Given the description of an element on the screen output the (x, y) to click on. 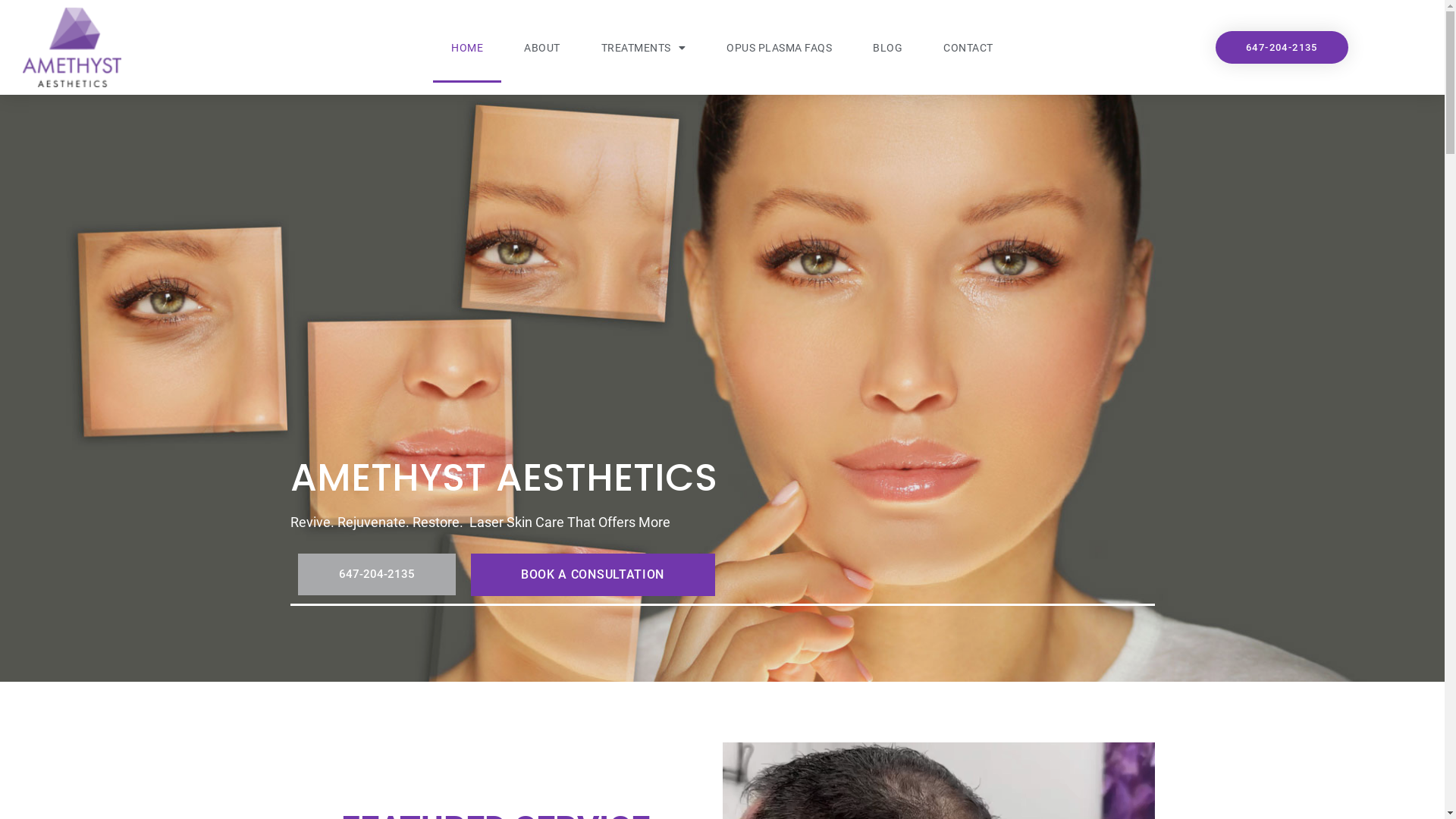
ABOUT Element type: text (541, 47)
HOME Element type: text (467, 47)
BOOK A CONSULTATION Element type: text (592, 574)
BLOG Element type: text (887, 47)
647-204-2135 Element type: text (1281, 47)
OPUS PLASMA FAQS Element type: text (779, 47)
CONTACT Element type: text (968, 47)
647-204-2135 Element type: text (376, 574)
TREATMENTS Element type: text (643, 47)
